Given the description of an element on the screen output the (x, y) to click on. 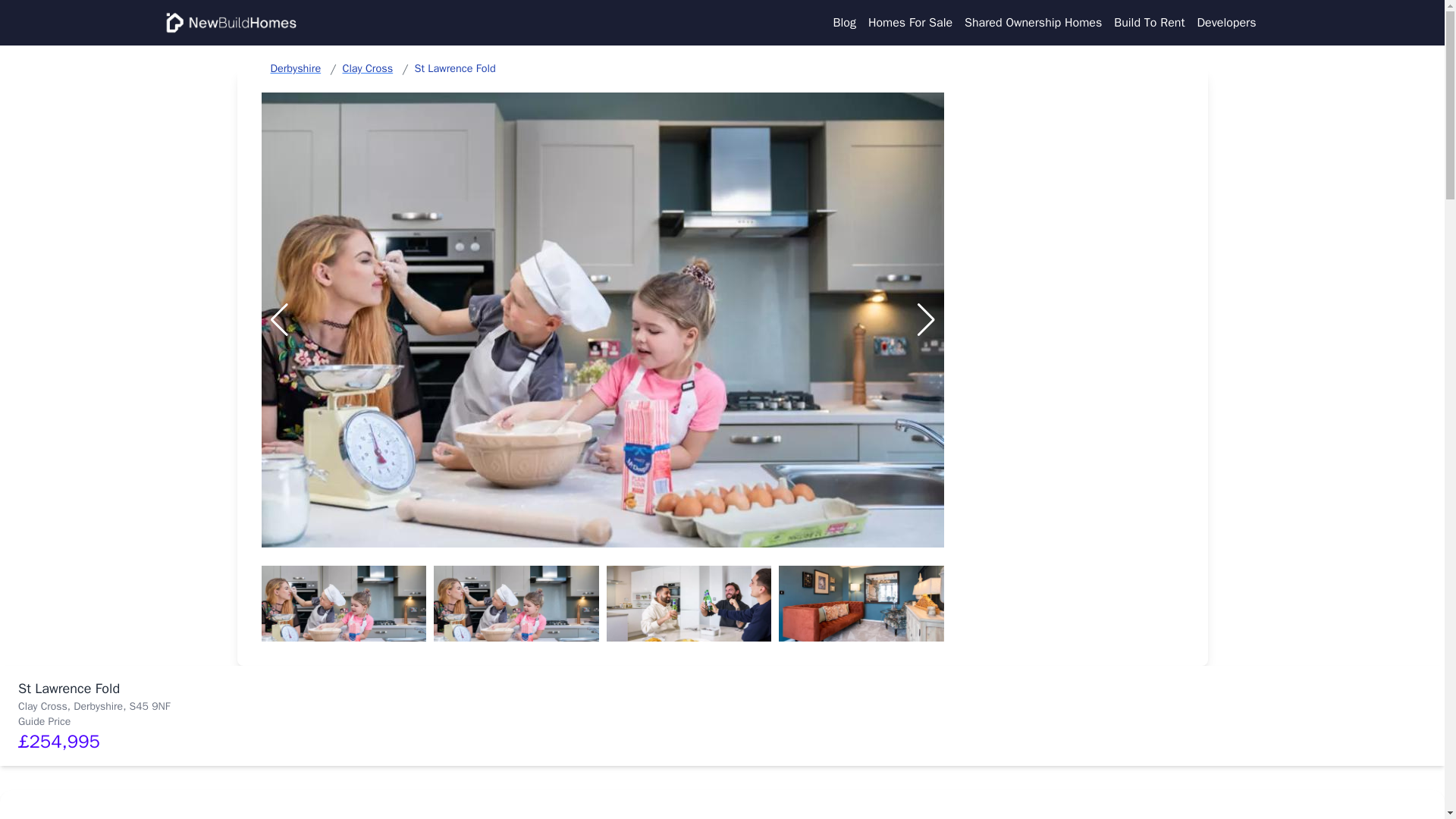
Shared Ownership Homes (1032, 22)
Derbyshire (294, 68)
Homes For Sale (909, 22)
Clay Cross (367, 68)
Developers (1226, 22)
Blog (844, 22)
Build To Rent (1149, 22)
